Given the description of an element on the screen output the (x, y) to click on. 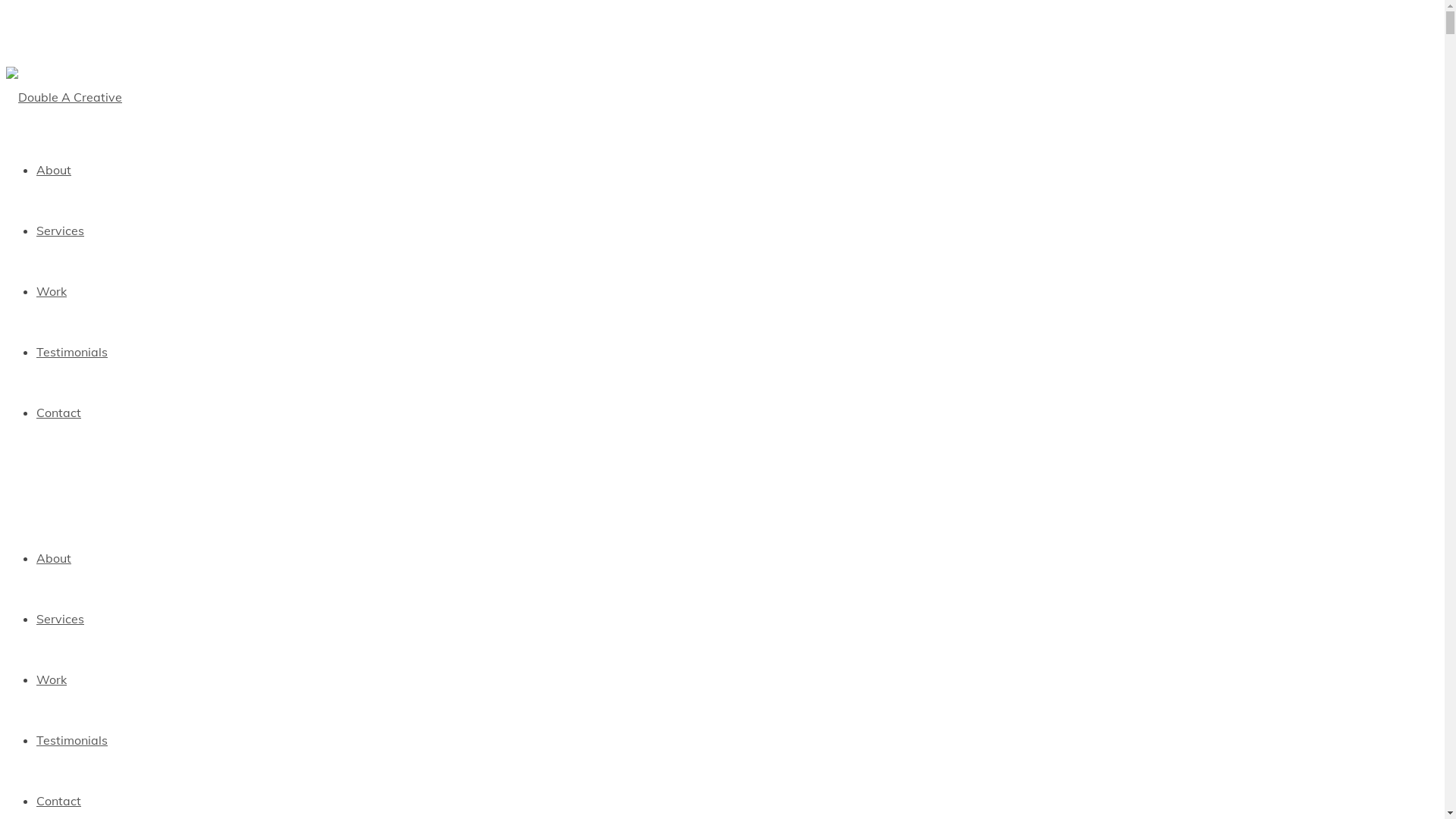
Work Element type: text (51, 679)
Testimonials Element type: text (71, 351)
About Element type: text (53, 169)
Services Element type: text (60, 230)
Contact Element type: text (58, 800)
Services Element type: text (60, 618)
Testimonials Element type: text (71, 739)
Work Element type: text (51, 290)
About Element type: text (53, 557)
Contact Element type: text (58, 412)
